Given the description of an element on the screen output the (x, y) to click on. 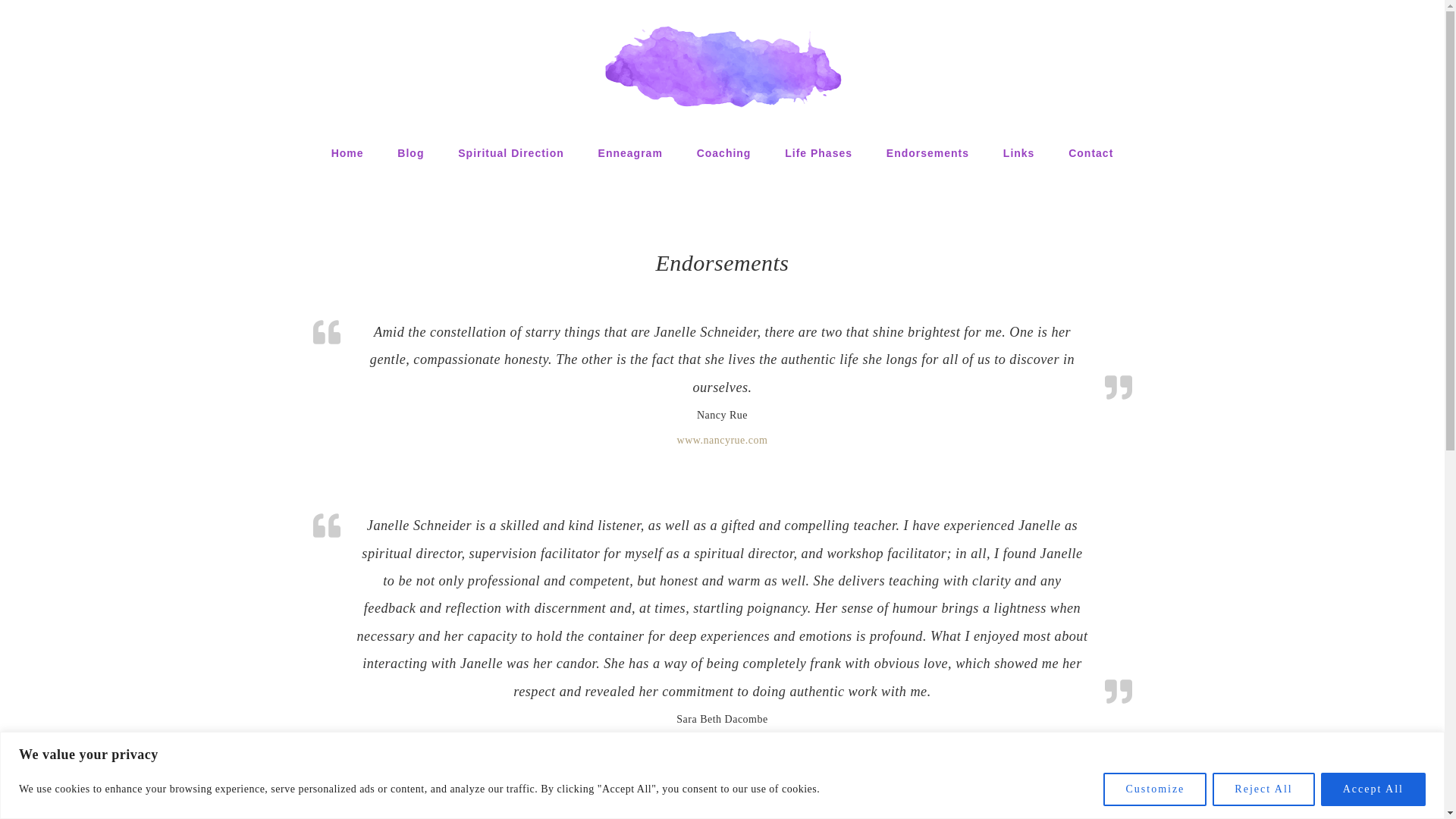
Click to share on Facebook (329, 813)
Endorsements (927, 152)
Enneagram (630, 152)
Reject All (1263, 788)
Contact (1090, 152)
Accept All (1372, 788)
Click to share on X (395, 813)
Coaching (724, 152)
Life Phases (818, 152)
Home (346, 152)
Spiritual Direction (510, 152)
Customize (1155, 788)
Blog (410, 152)
Janelle Schneider (722, 65)
Facebook (329, 813)
